Given the description of an element on the screen output the (x, y) to click on. 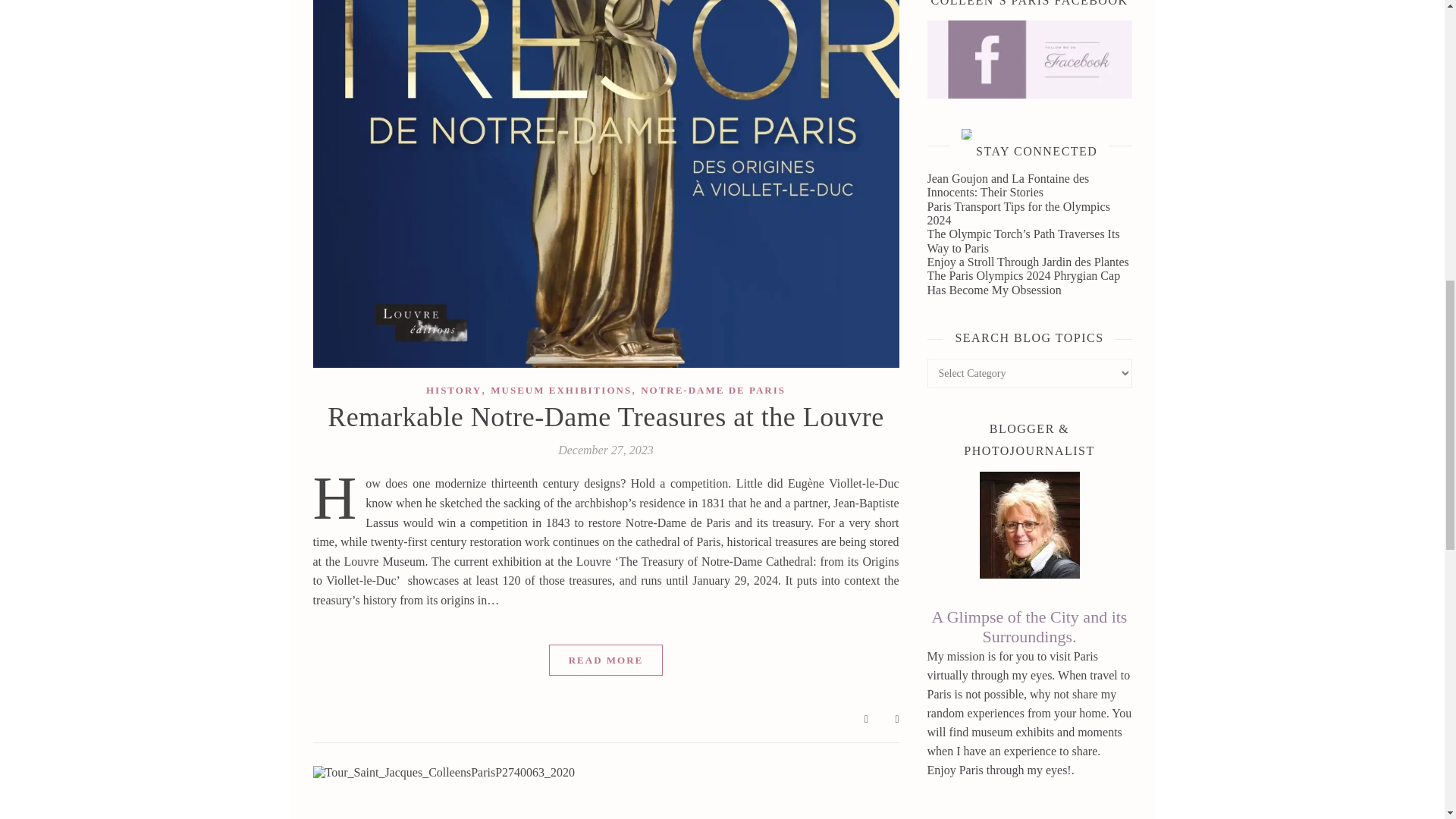
Colleen's Paris Facebook (1028, 59)
Remarkable Notre-Dame Treasures at the Louvre (605, 417)
MUSEUM EXHIBITIONS (560, 389)
HISTORY (453, 389)
READ MORE (605, 659)
NOTRE-DAME DE PARIS (713, 389)
